Given the description of an element on the screen output the (x, y) to click on. 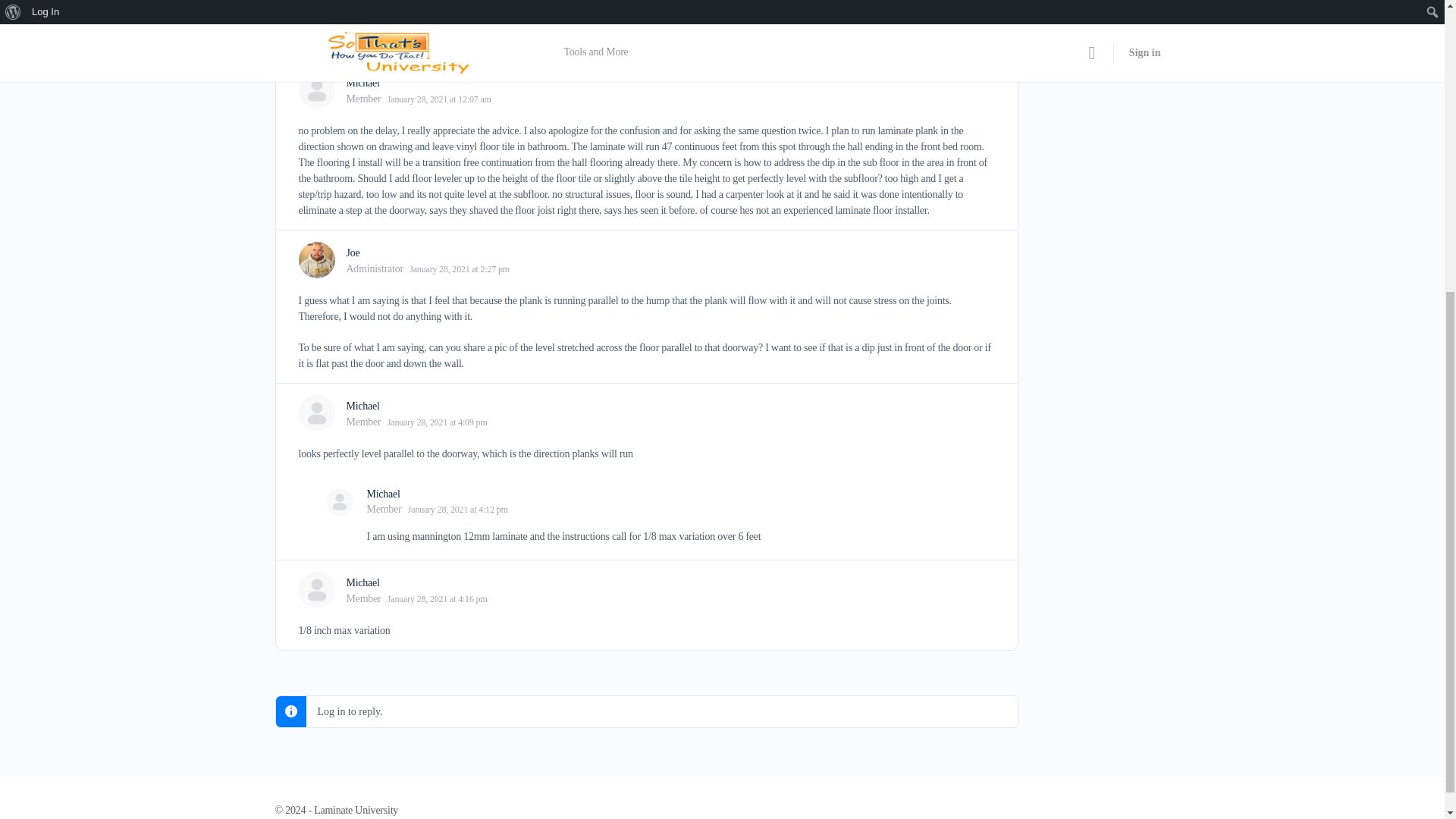
View Michael's profile (362, 405)
Joe (352, 252)
View Joe's profile (352, 252)
View Michael's profile (362, 82)
Michael (362, 82)
View Michael's profile (362, 582)
Michael (362, 405)
View Michael's profile (316, 589)
View Michael's profile (383, 493)
View Joe's profile (316, 259)
